Given the description of an element on the screen output the (x, y) to click on. 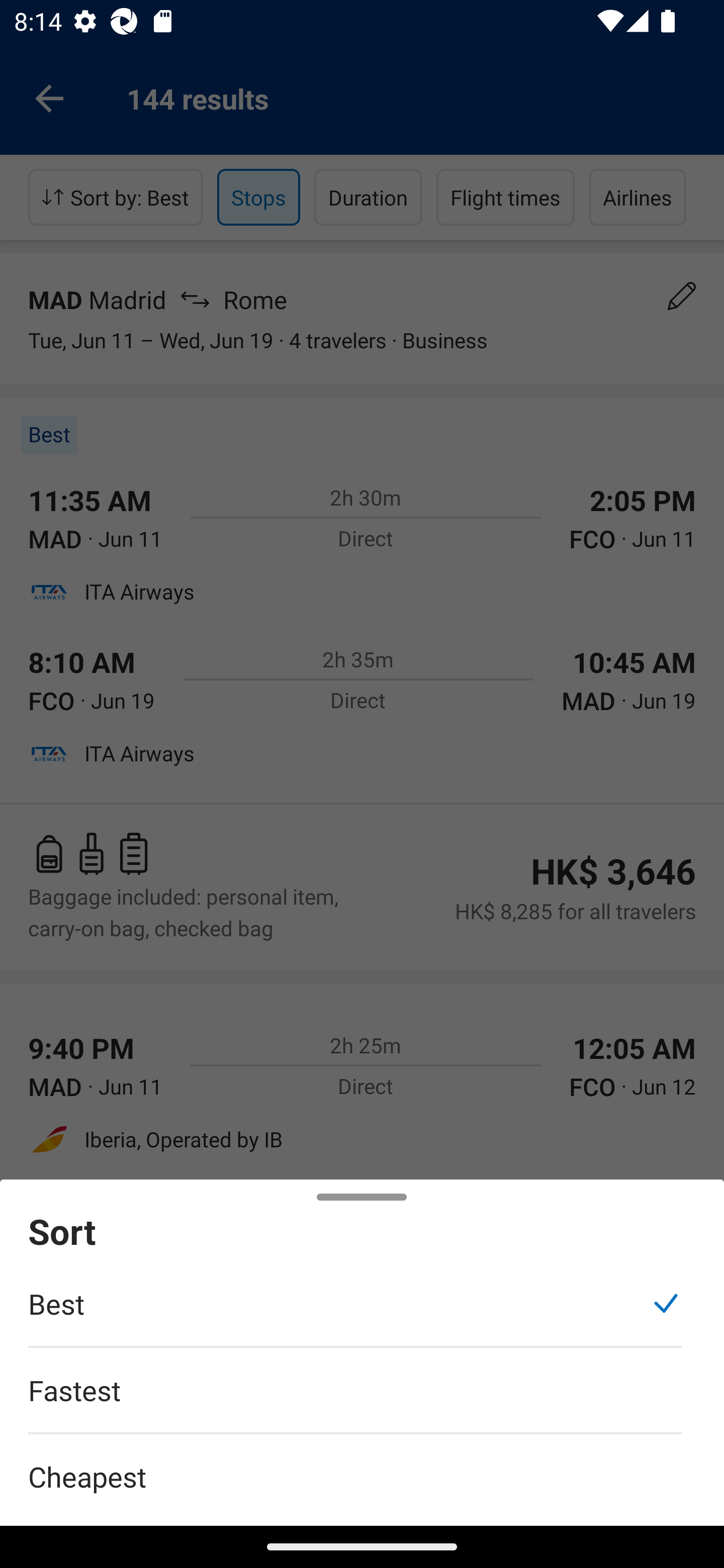
Best (355, 1313)
Fastest (355, 1399)
Cheapest (362, 1465)
